Given the description of an element on the screen output the (x, y) to click on. 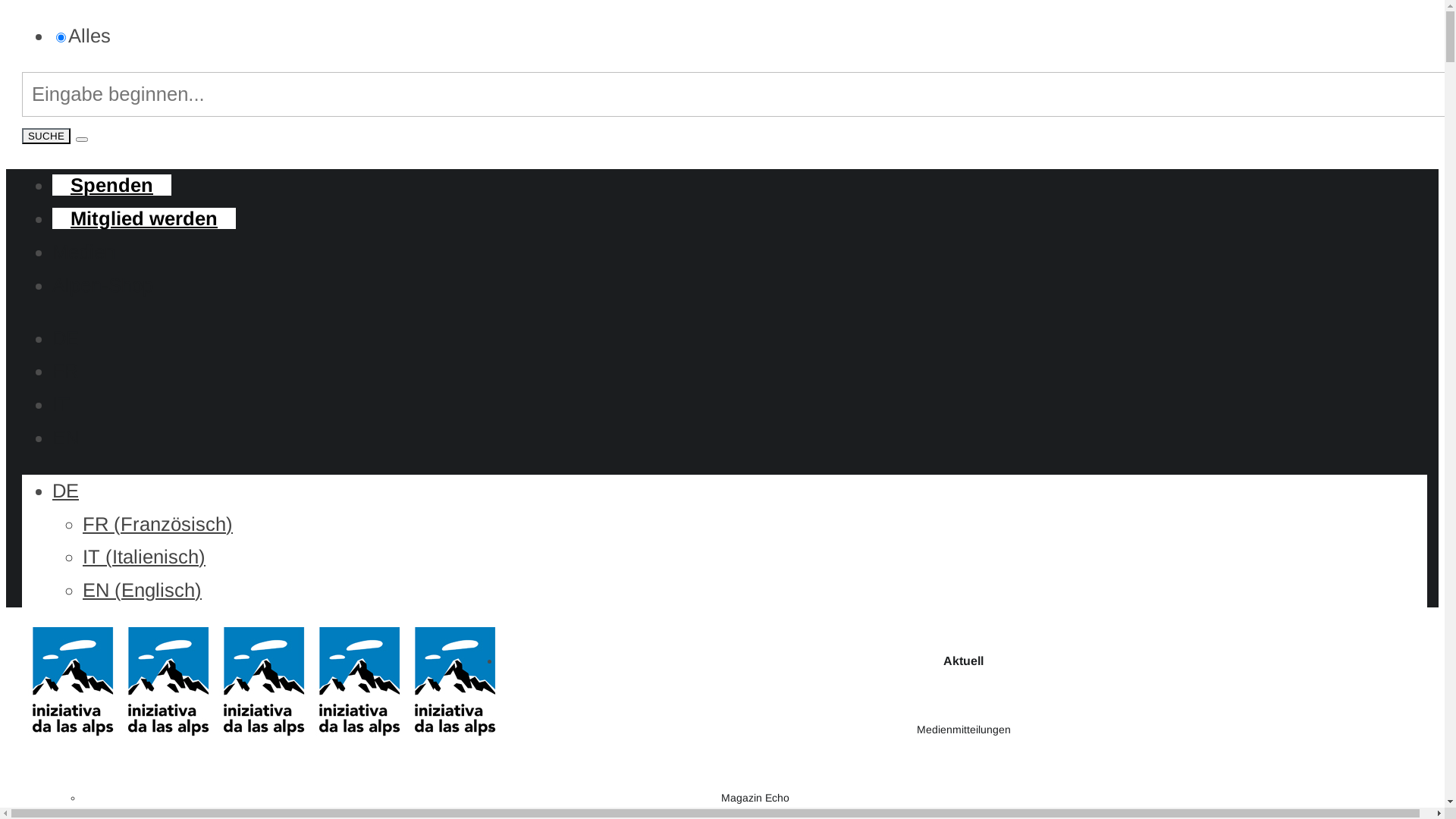
DE Element type: text (65, 337)
Medienmitteilungen Element type: text (963, 729)
Alpen-Initiative Element type: hover (260, 683)
DE Element type: text (65, 490)
Aktuell Element type: text (963, 660)
IT (Italienisch) Element type: text (143, 556)
FR Element type: text (65, 370)
Magazin Echo Element type: text (754, 797)
Medien Element type: text (83, 251)
IT Element type: text (60, 403)
EN (Englisch) Element type: text (141, 589)
Mitglied werden Element type: text (143, 218)
SUCHE Element type: text (45, 136)
Spenden Element type: text (111, 184)
EN Element type: text (65, 437)
Alpen-Shop Element type: text (102, 284)
